Given the description of an element on the screen output the (x, y) to click on. 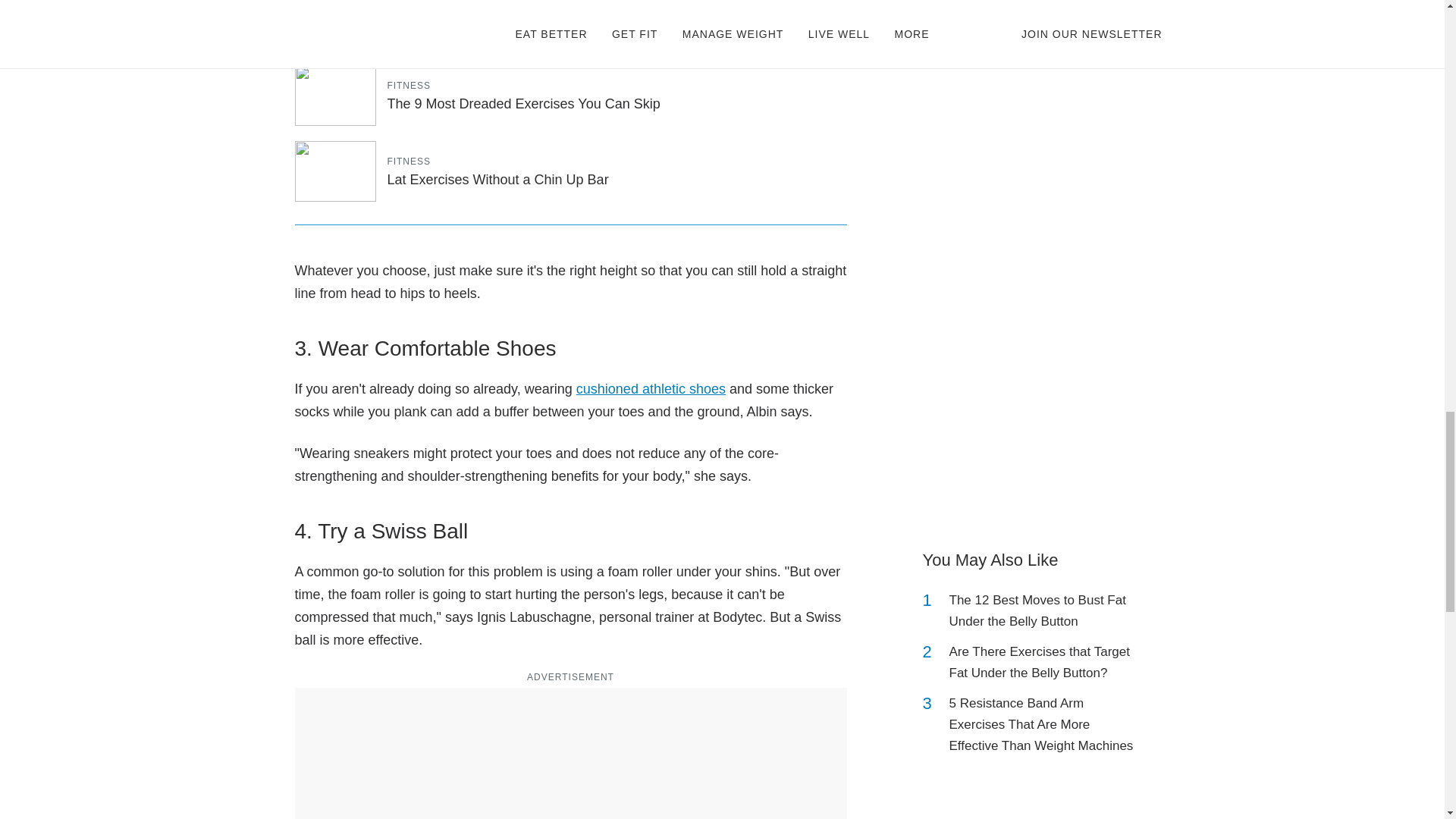
Lat Exercises Without a Chin Up Bar (497, 179)
The Only 5 Barbell Exercises You Need for a Stronger Butt (1042, 20)
cushioned athletic shoes (650, 388)
The 9 Most Dreaded Exercises You Can Skip (523, 103)
The 12 Best Moves to Bust Fat Under the Belly Button (1042, 610)
Are There Exercises that Target Fat Under the Belly Button? (1042, 662)
